Given the description of an element on the screen output the (x, y) to click on. 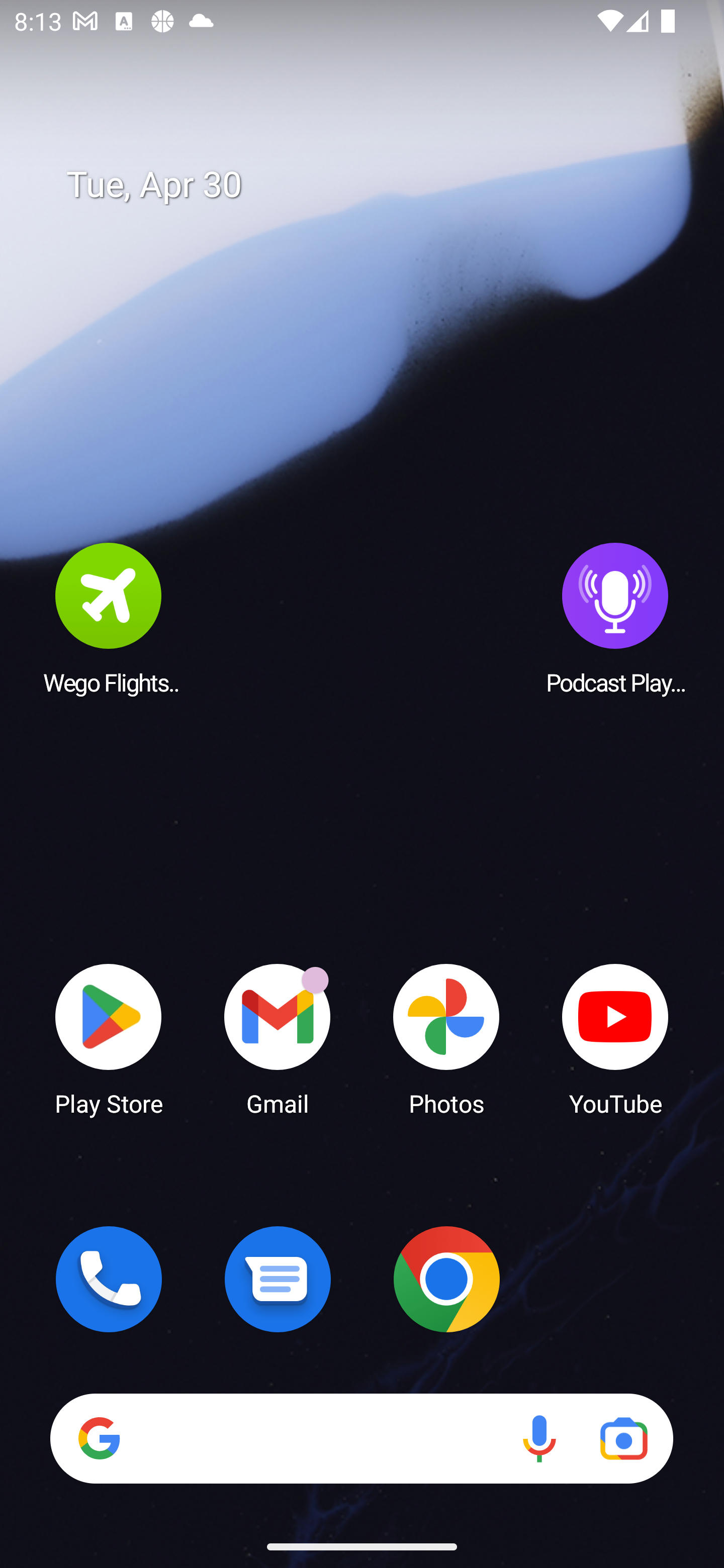
Tue, Apr 30 (375, 184)
Wego Flights & Hotels (108, 617)
Podcast Player (615, 617)
Play Store (108, 1038)
Gmail Gmail has 19 notifications (277, 1038)
Photos (445, 1038)
YouTube (615, 1038)
Phone (108, 1279)
Messages (277, 1279)
Chrome (446, 1279)
Voice search (539, 1438)
Google Lens (623, 1438)
